Given the description of an element on the screen output the (x, y) to click on. 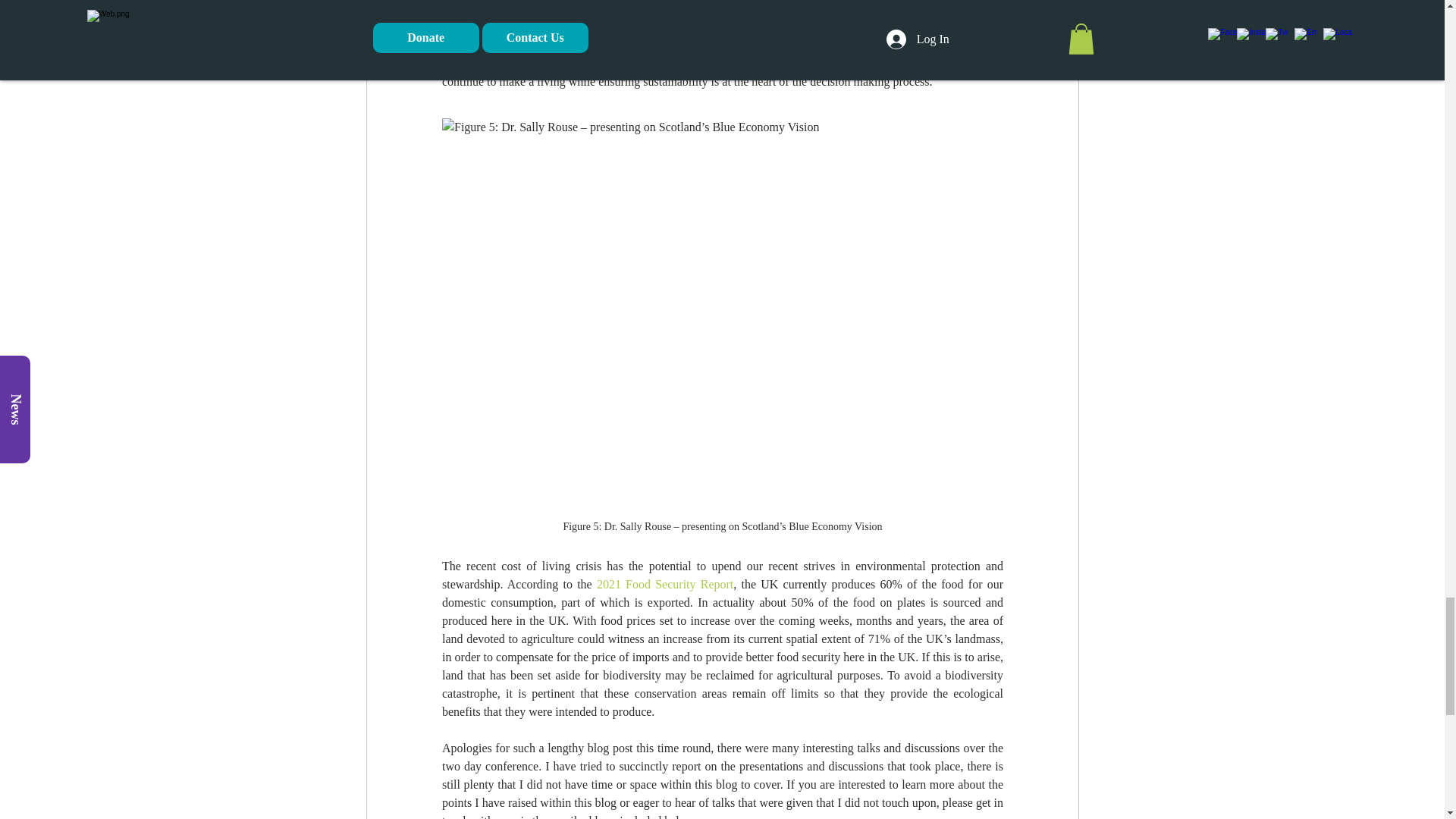
Blue Economy Vision for Scotland (677, 8)
2021 Food Security Report (663, 584)
National Marine Plan (940, 8)
